Given the description of an element on the screen output the (x, y) to click on. 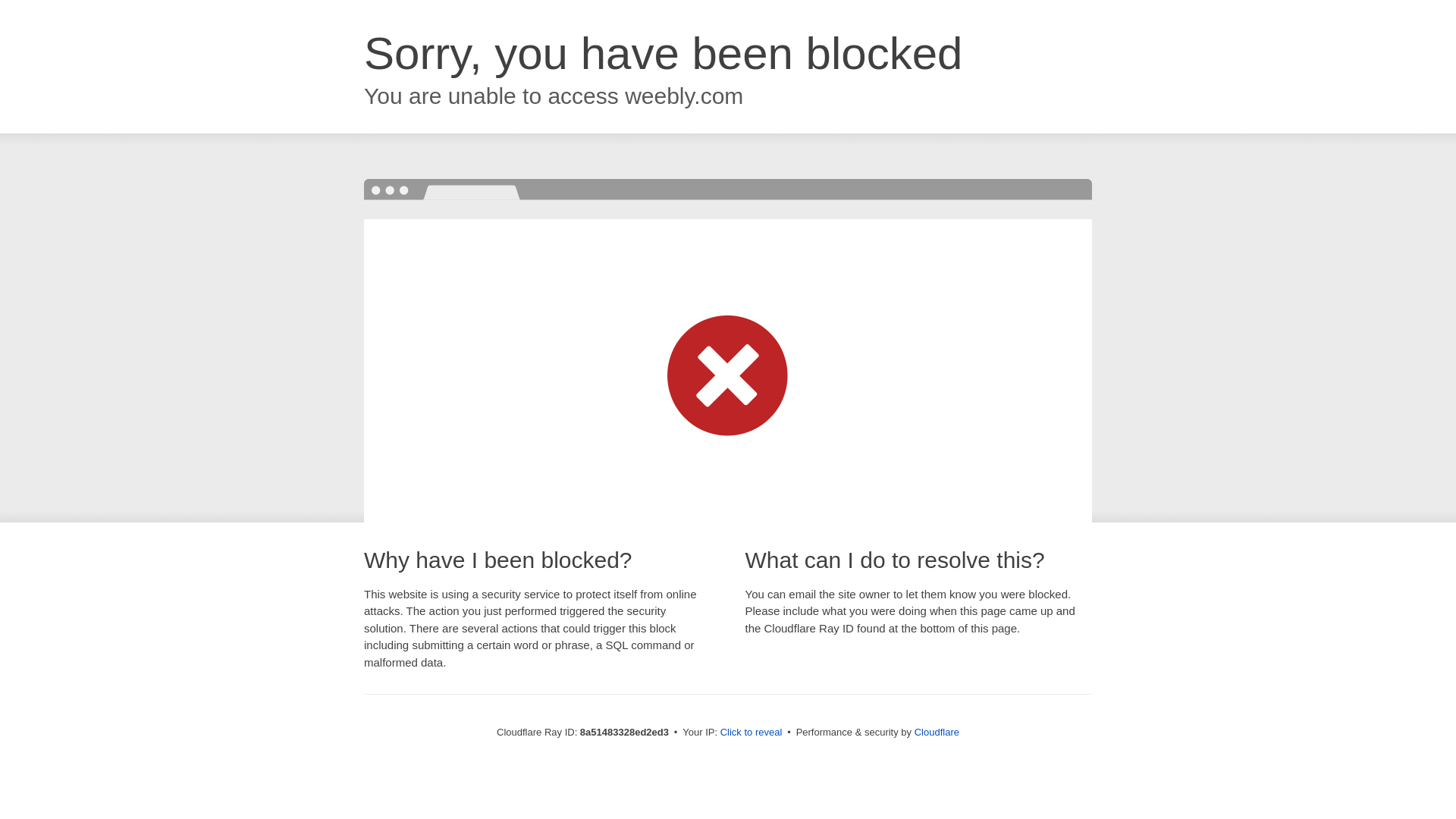
Cloudflare (936, 731)
Click to reveal (751, 732)
